Given the description of an element on the screen output the (x, y) to click on. 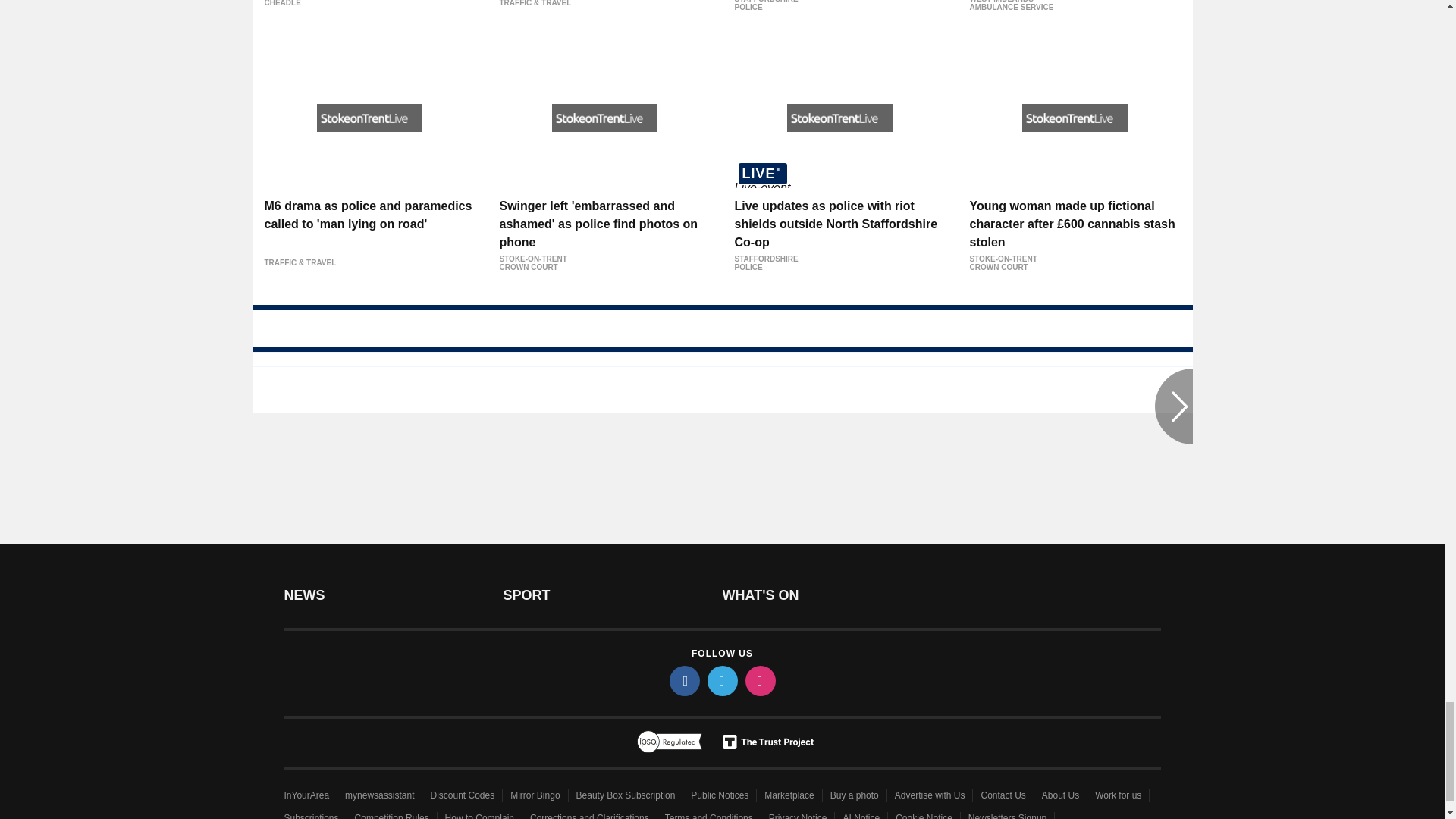
facebook (683, 680)
twitter (721, 680)
instagram (759, 680)
